Given the description of an element on the screen output the (x, y) to click on. 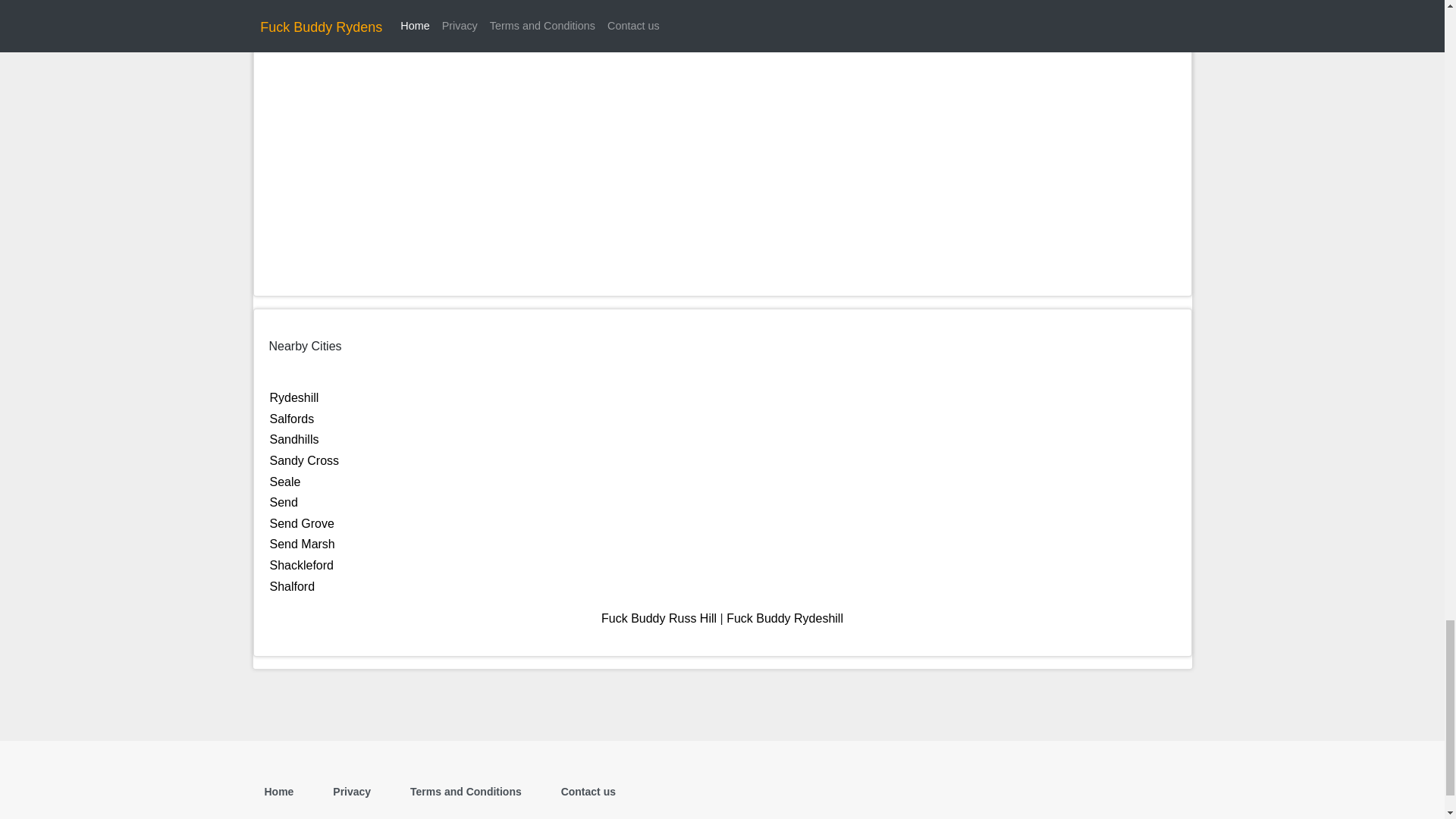
Send Marsh (301, 543)
Fuck Buddy Russ Hill (658, 617)
Shackleford (301, 564)
Fuck Buddy Rydeshill (784, 617)
Seale (285, 481)
Salfords (291, 418)
Rydeshill (293, 397)
Send (283, 502)
Sandhills (293, 439)
Sandy Cross (304, 460)
Shalford (292, 585)
Send Grove (301, 522)
